Given the description of an element on the screen output the (x, y) to click on. 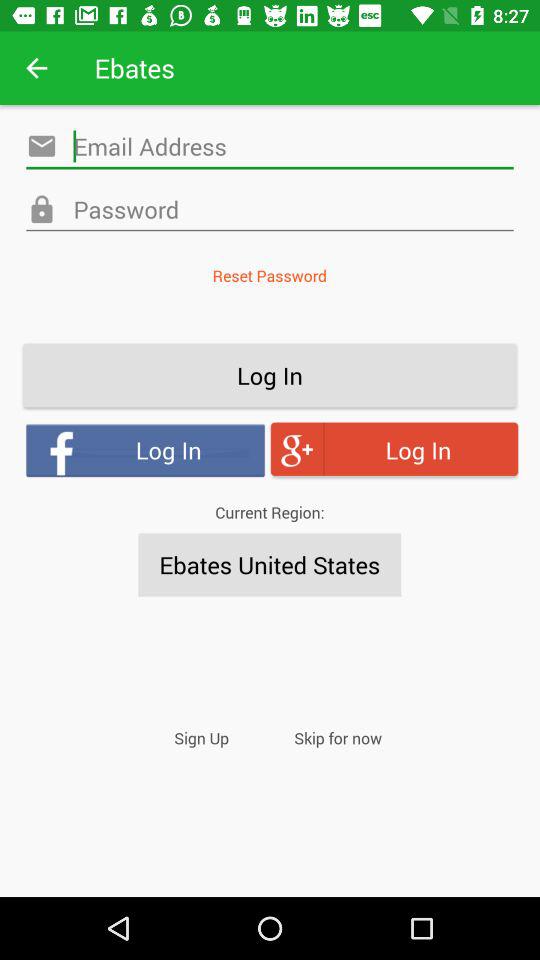
launch the item below the ebates united states icon (201, 737)
